Given the description of an element on the screen output the (x, y) to click on. 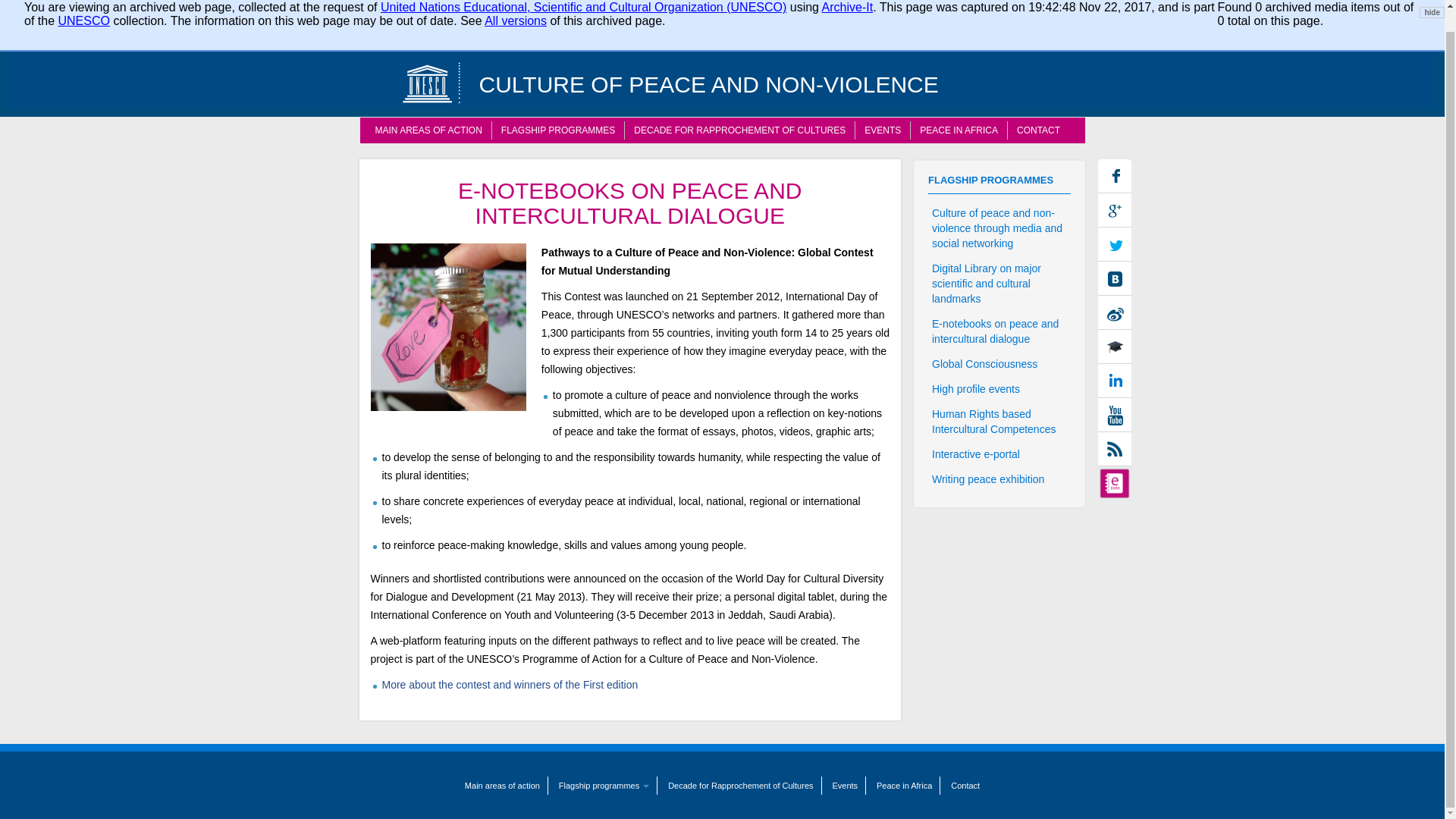
English (373, 2)
COUNTRIES (694, 30)
UNESCO.org (910, 4)
Home (432, 81)
CULTURE OF PEACE AND NON-VIOLENCE (698, 74)
FLAGSHIP PROGRAMMES (557, 130)
JOIN US (913, 30)
PARTNERSHIPS (810, 30)
THEMES (599, 30)
Member States (980, 4)
Main areas of action (427, 130)
ABOUT US (507, 30)
E-notebooks on peace and intercultural dialogue (373, 2)
DECADE FOR RAPPROCHEMENT OF CULTURES (739, 130)
Archive-It (847, 6)
